Given the description of an element on the screen output the (x, y) to click on. 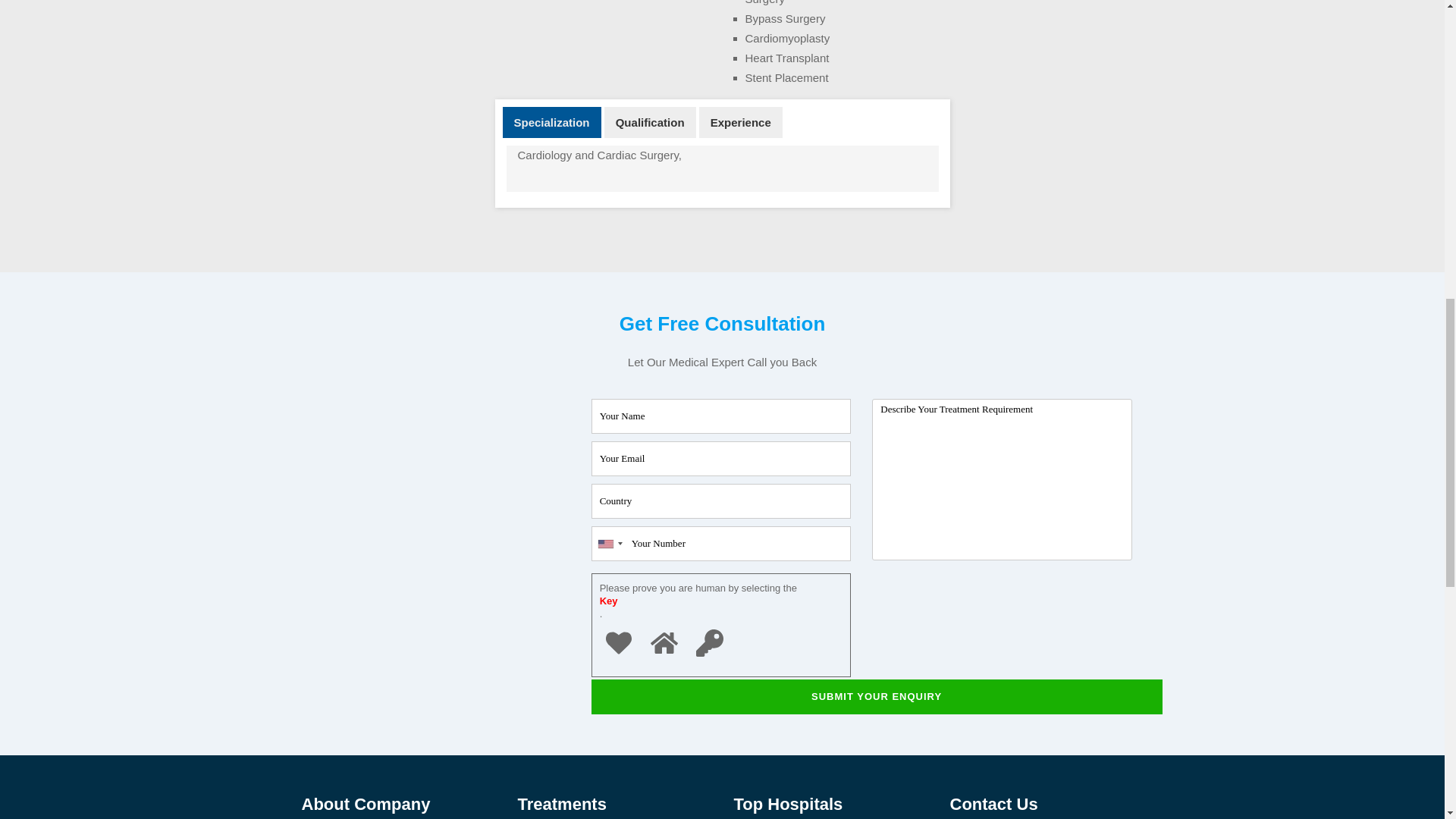
Get Free Consultation (426, 378)
Submit your enquiry (876, 696)
